Given the description of an element on the screen output the (x, y) to click on. 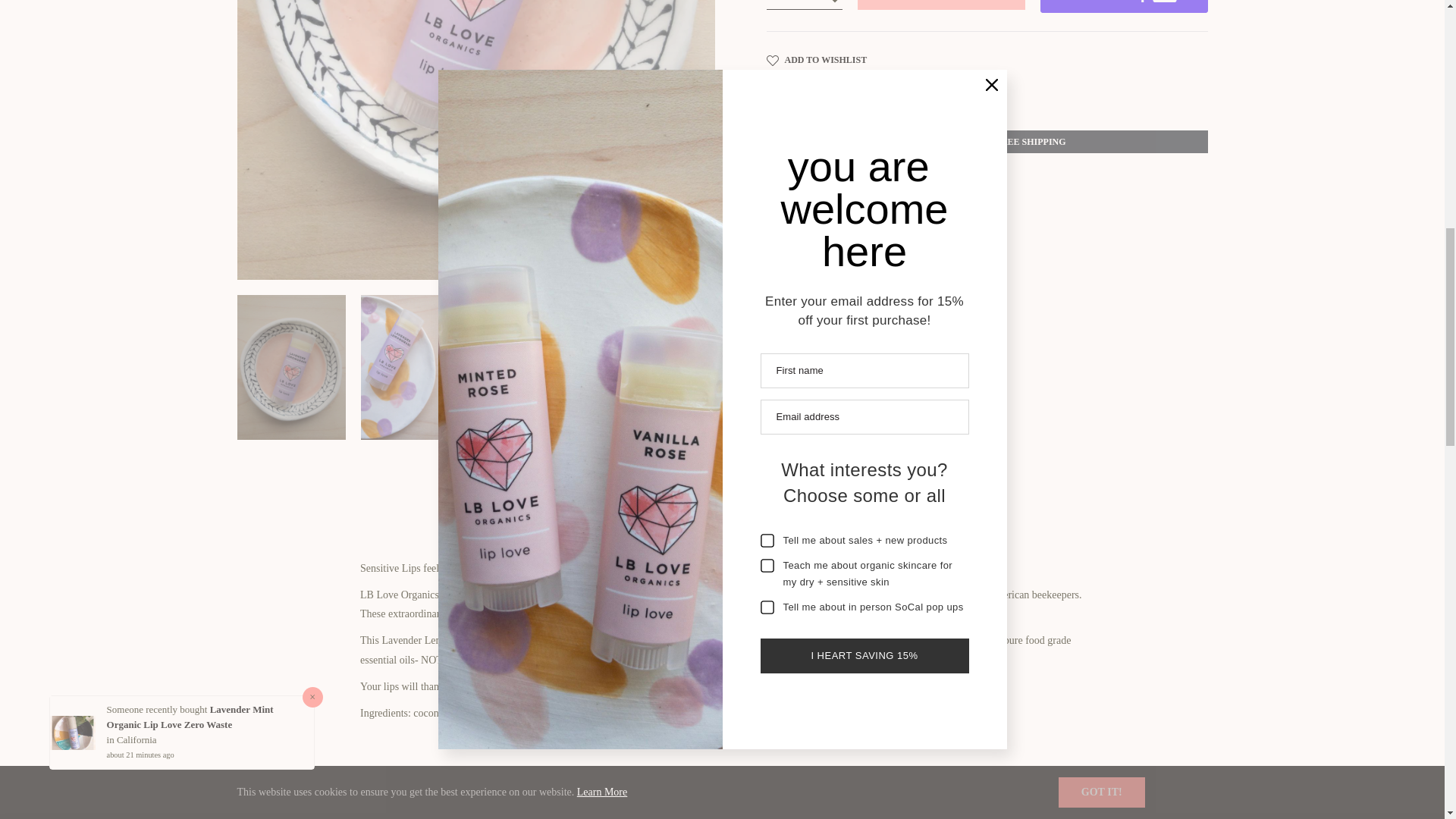
1 (803, 4)
